Given the description of an element on the screen output the (x, y) to click on. 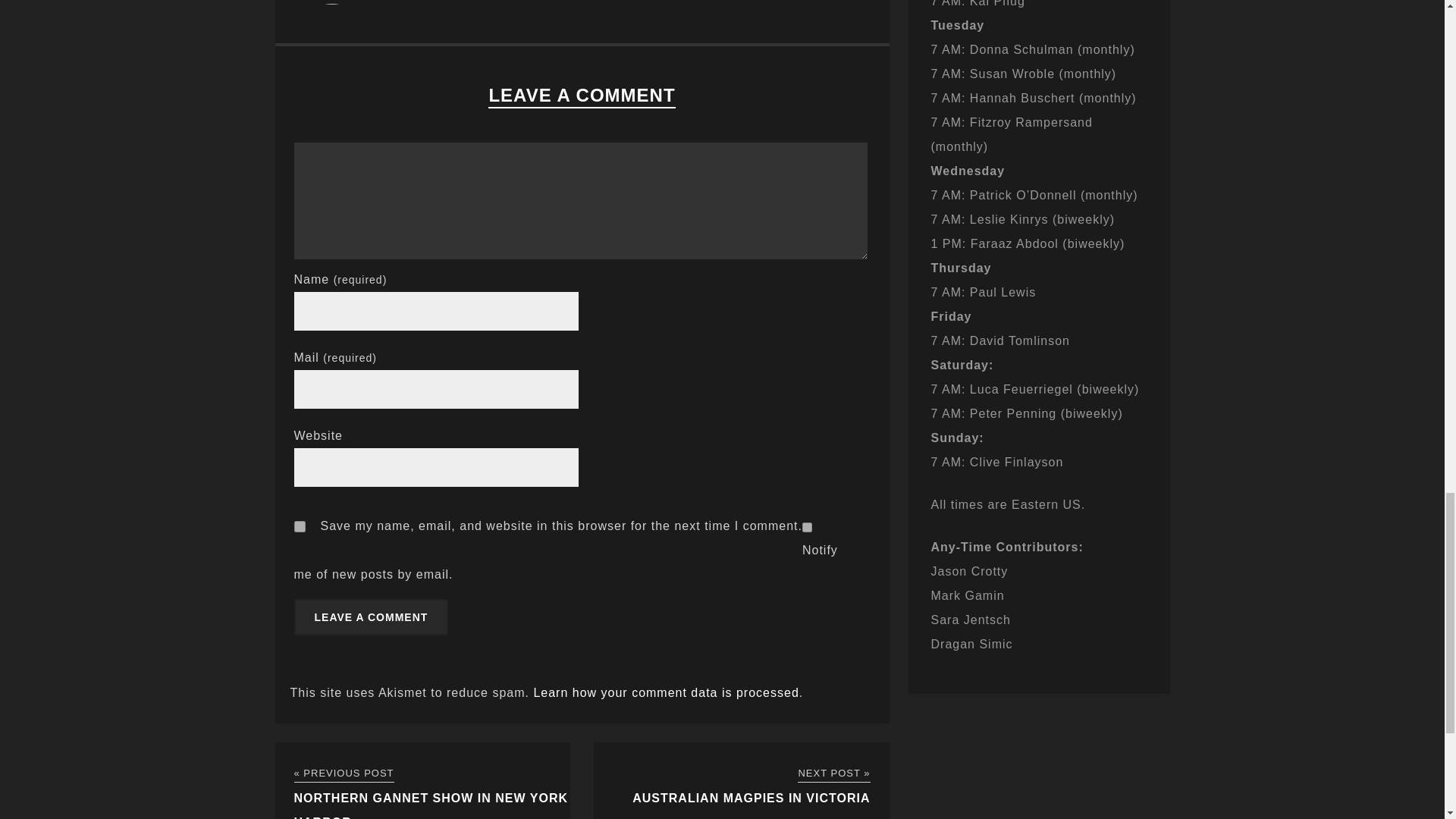
Leave a Comment (371, 616)
yes (299, 526)
